Given the description of an element on the screen output the (x, y) to click on. 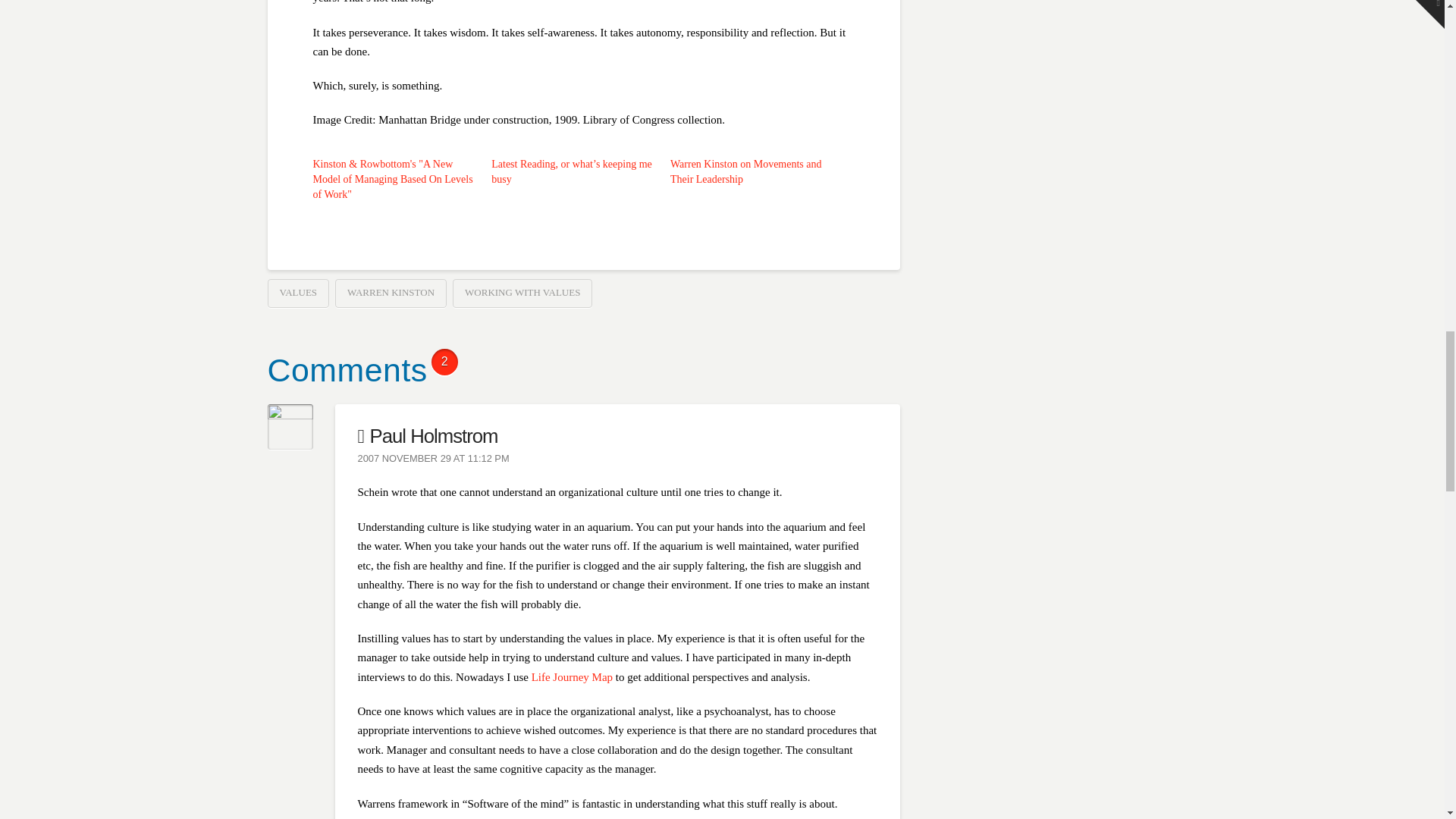
Warren Kinston on Movements and Their Leadership (745, 171)
WORKING WITH VALUES (522, 293)
Warren Kinston on Movements and Their Leadership (745, 171)
2007 NOVEMBER 29 AT 11:12 PM (433, 459)
Paul Holmstrom (427, 435)
WARREN KINSTON (390, 293)
Life Journey Map (571, 676)
VALUES (297, 293)
